Given the description of an element on the screen output the (x, y) to click on. 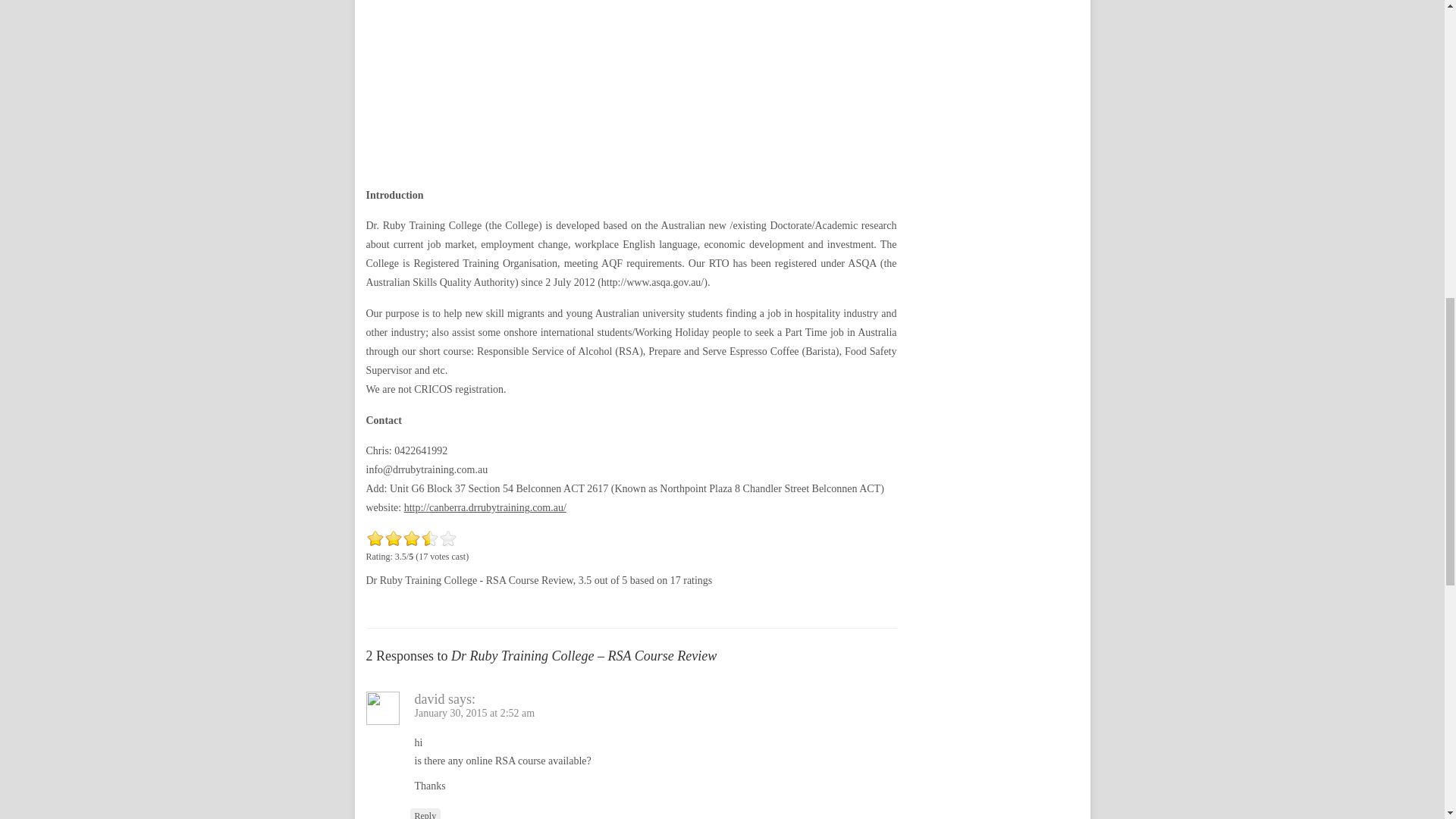
Reply (425, 813)
Advertisement (630, 84)
January 30, 2015 at 2:52 am (473, 713)
